Given the description of an element on the screen output the (x, y) to click on. 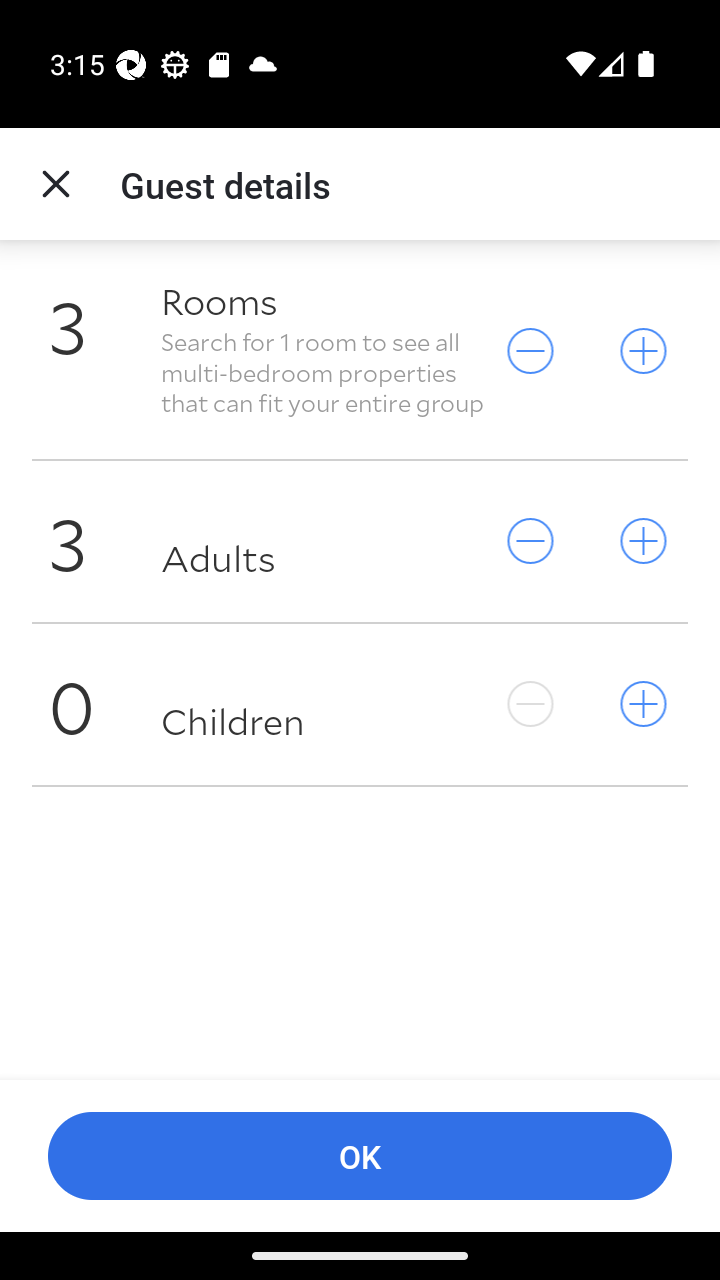
OK (359, 1156)
